Given the description of an element on the screen output the (x, y) to click on. 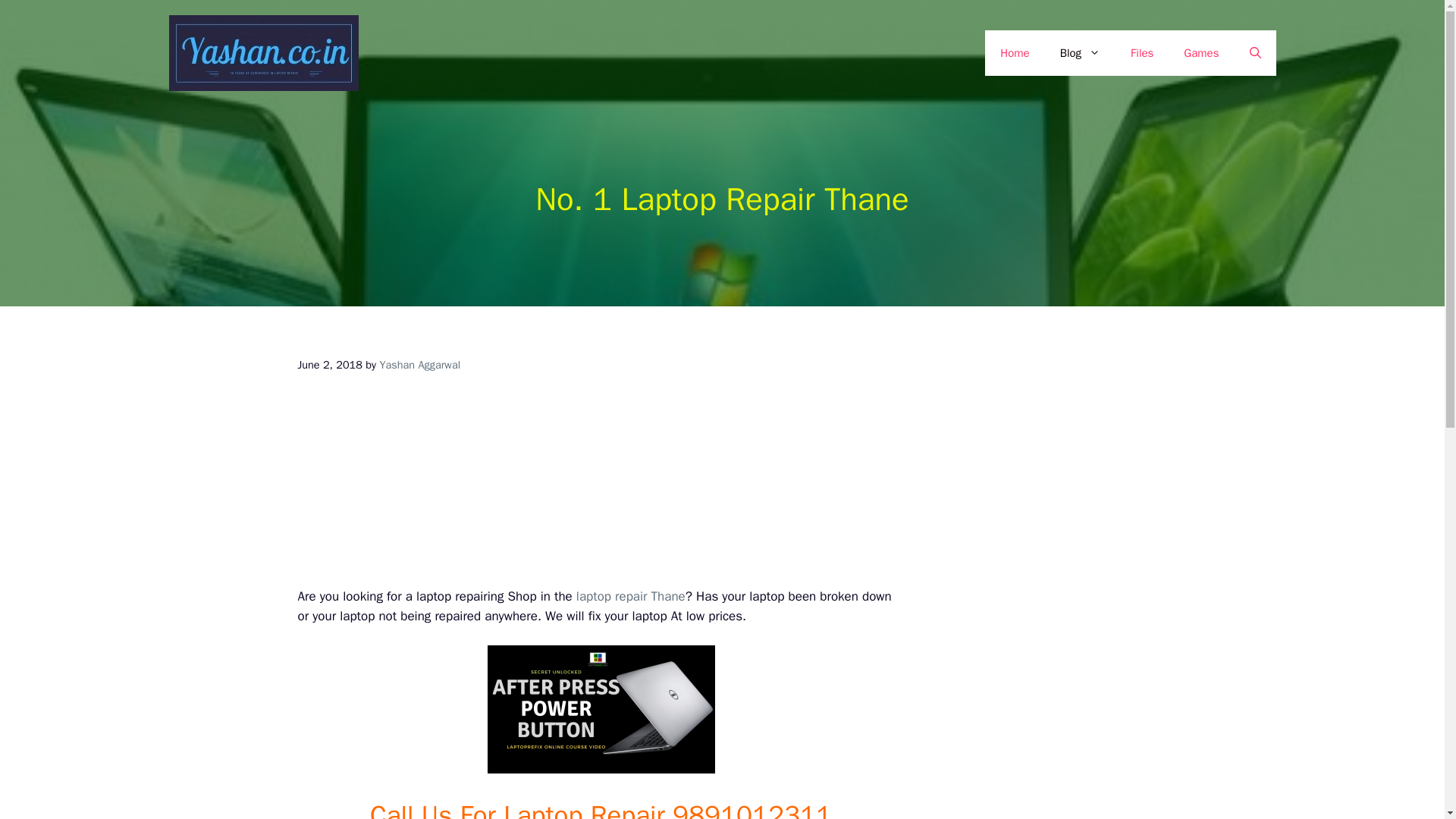
View all posts by Yashan Aggarwal (419, 364)
Blog (1080, 53)
Home (1014, 53)
Files (1142, 53)
laptop repair Thane (630, 596)
Yashan Aggarwal (419, 364)
Games (1201, 53)
